Given the description of an element on the screen output the (x, y) to click on. 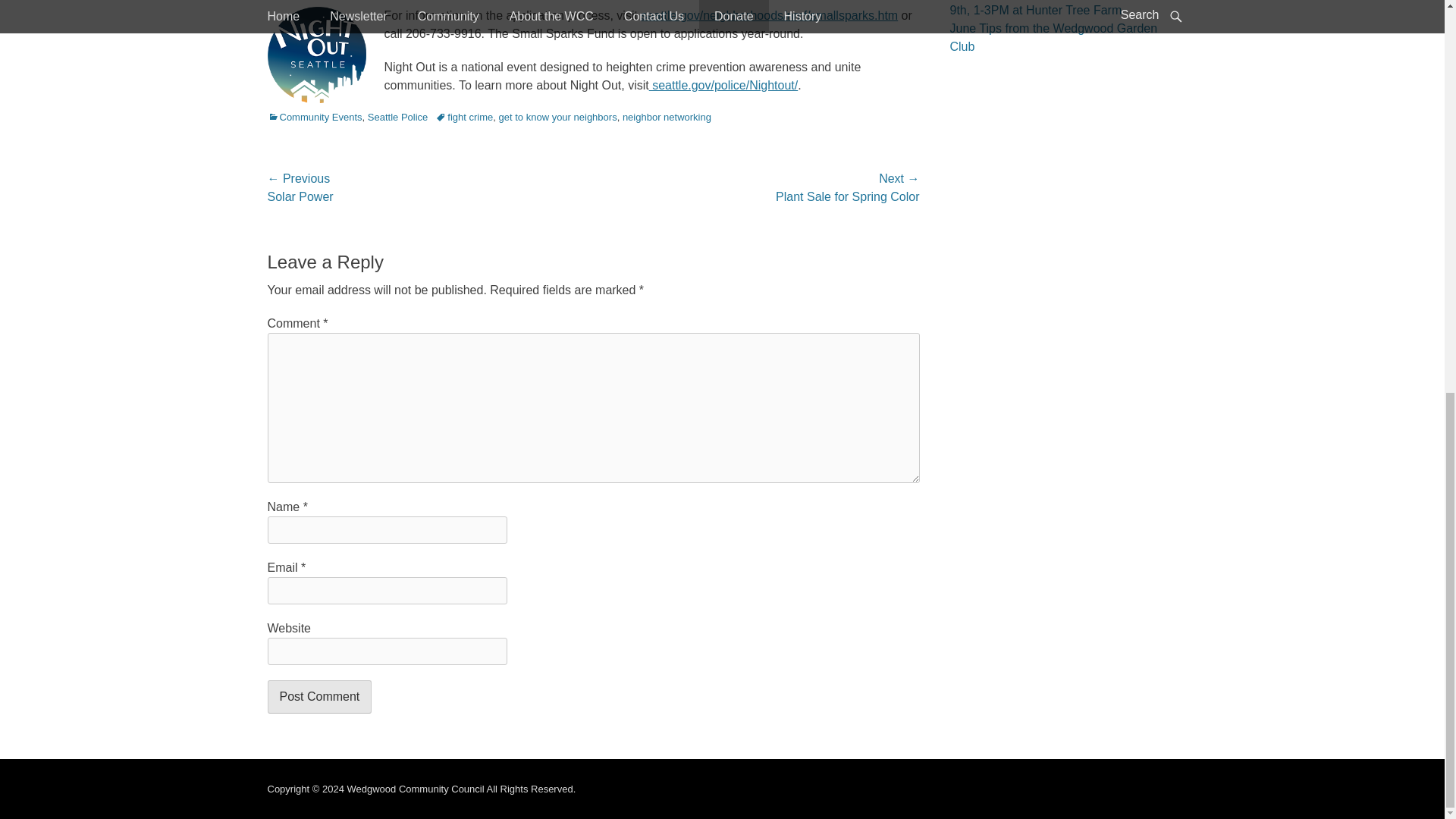
Night Out logo (315, 54)
Seattle Police (398, 116)
Community Events (313, 116)
Post Comment (318, 696)
